Given the description of an element on the screen output the (x, y) to click on. 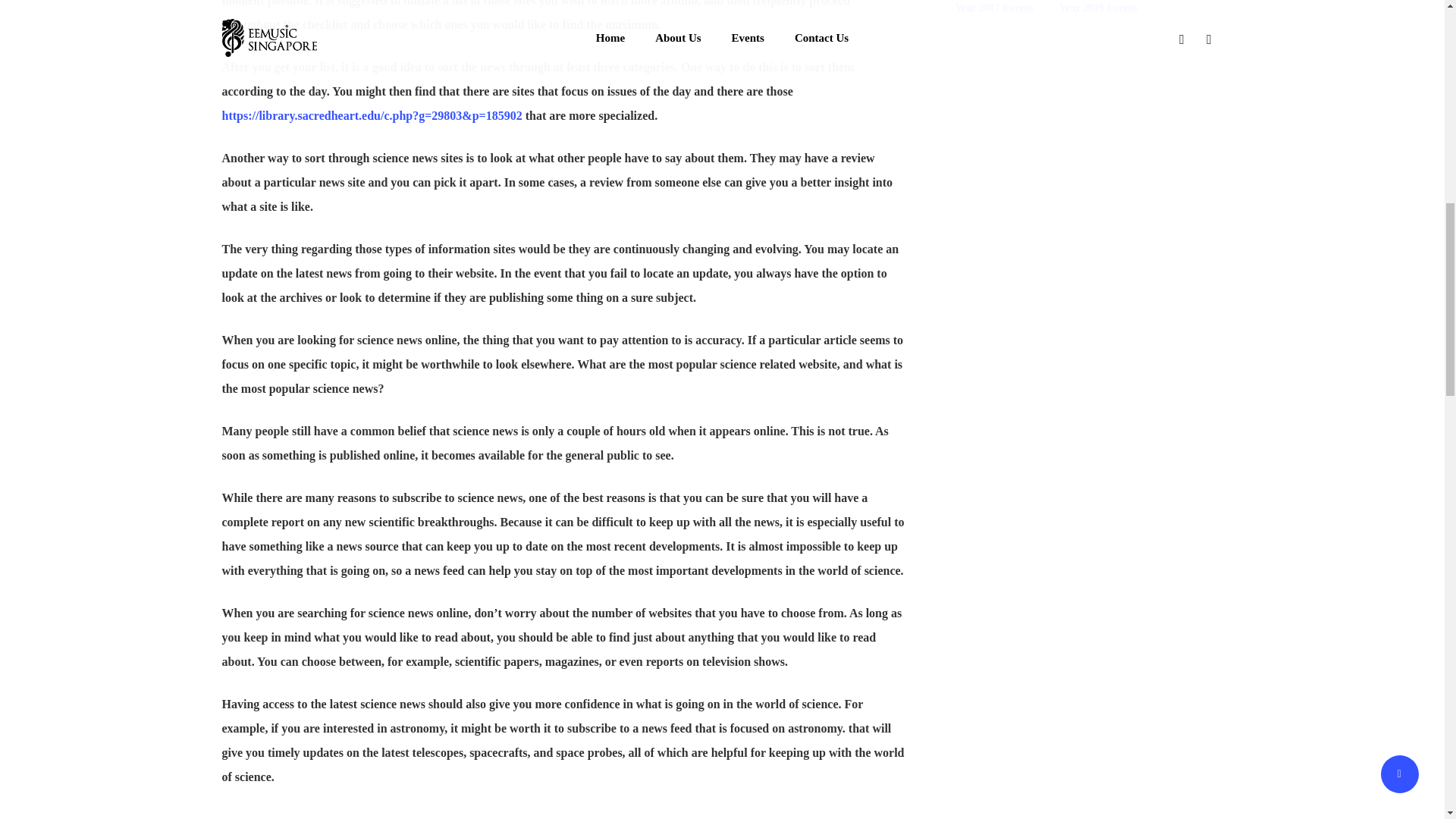
Year 2017 Events (994, 10)
Year 2019 Events (1097, 10)
